Given the description of an element on the screen output the (x, y) to click on. 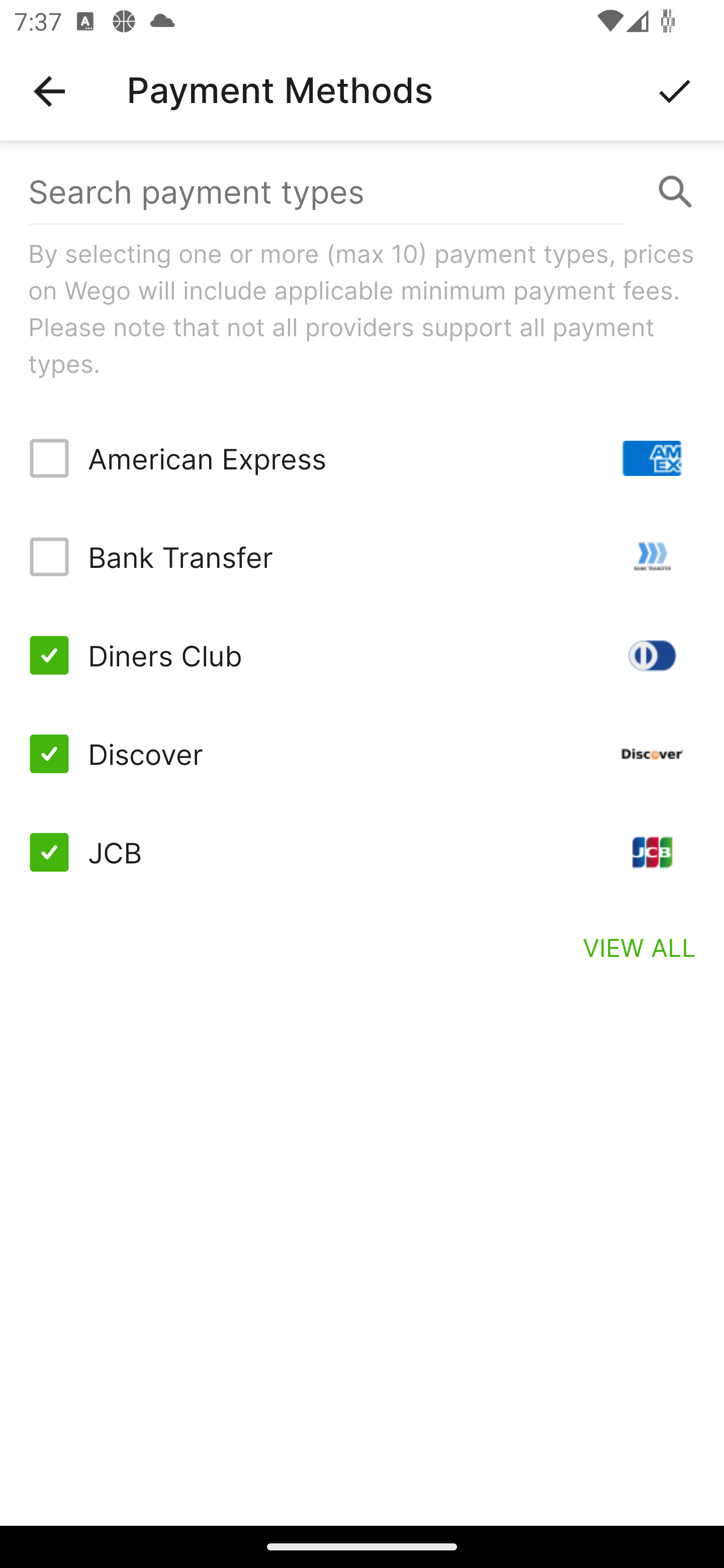
Search payment types  (361, 191)
American Express (362, 458)
Bank Transfer (362, 557)
Diners Club (362, 655)
Discover (362, 753)
JCB (362, 851)
VIEW ALL (639, 946)
